Given the description of an element on the screen output the (x, y) to click on. 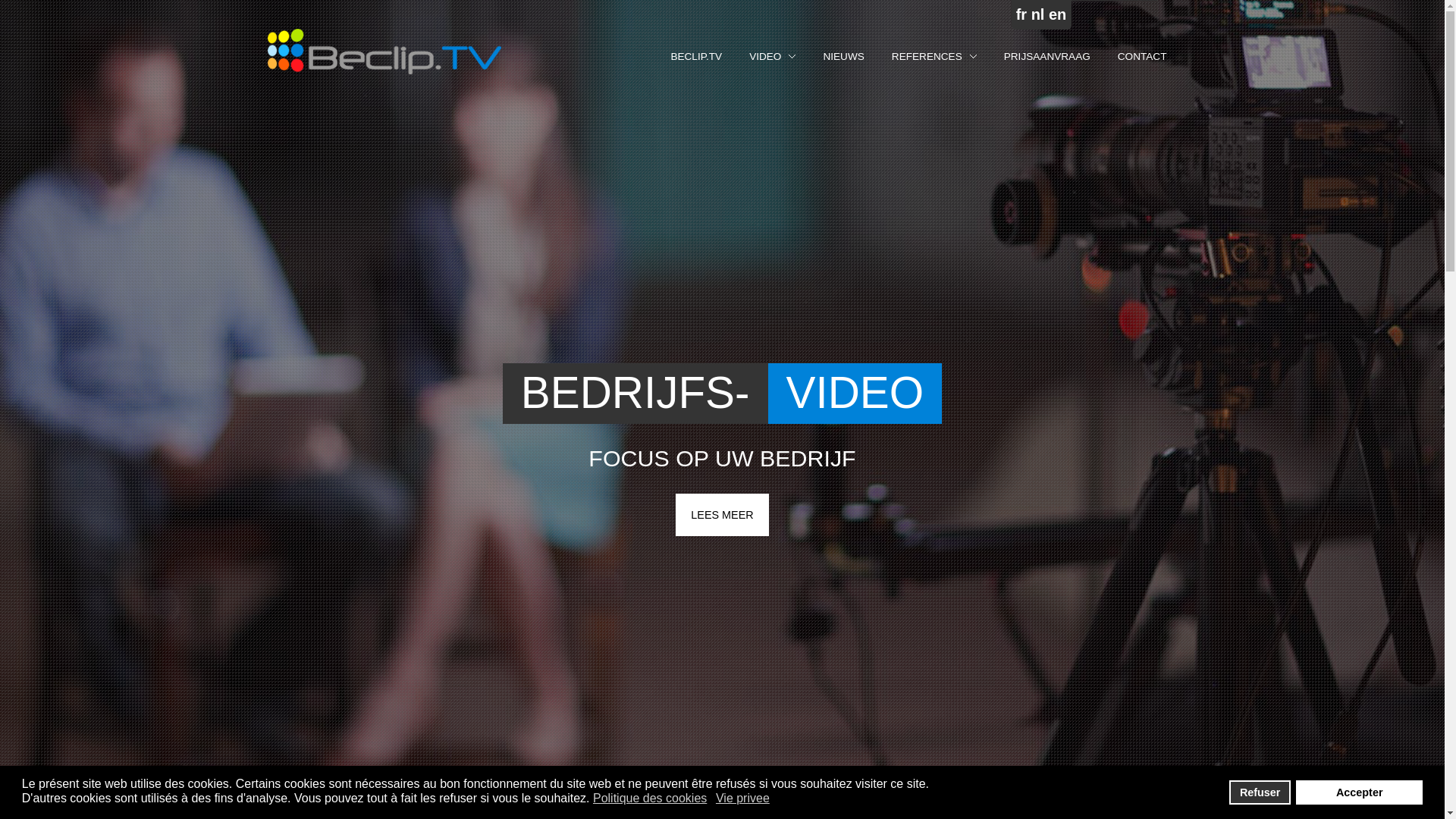
Vie privee Element type: text (743, 798)
BECLIP.TV Element type: text (695, 56)
NIEUWS Element type: text (842, 56)
Refuser Element type: text (1259, 792)
BECLIP.TV Element type: text (695, 56)
PRIJSAANVRAAG Element type: text (1047, 56)
Accepter Element type: text (1358, 792)
REFERENCES Element type: text (926, 56)
Politique des cookies Element type: text (651, 798)
PRIJSAANVRAAG Element type: text (1047, 56)
NIEUWS Element type: text (842, 56)
LEES MEER Element type: text (721, 514)
VIDEO Element type: text (772, 56)
CONTACT Element type: text (1142, 56)
REFERENCES Element type: text (933, 56)
CONTACT Element type: text (1142, 56)
VIDEO Element type: text (765, 56)
